Given the description of an element on the screen output the (x, y) to click on. 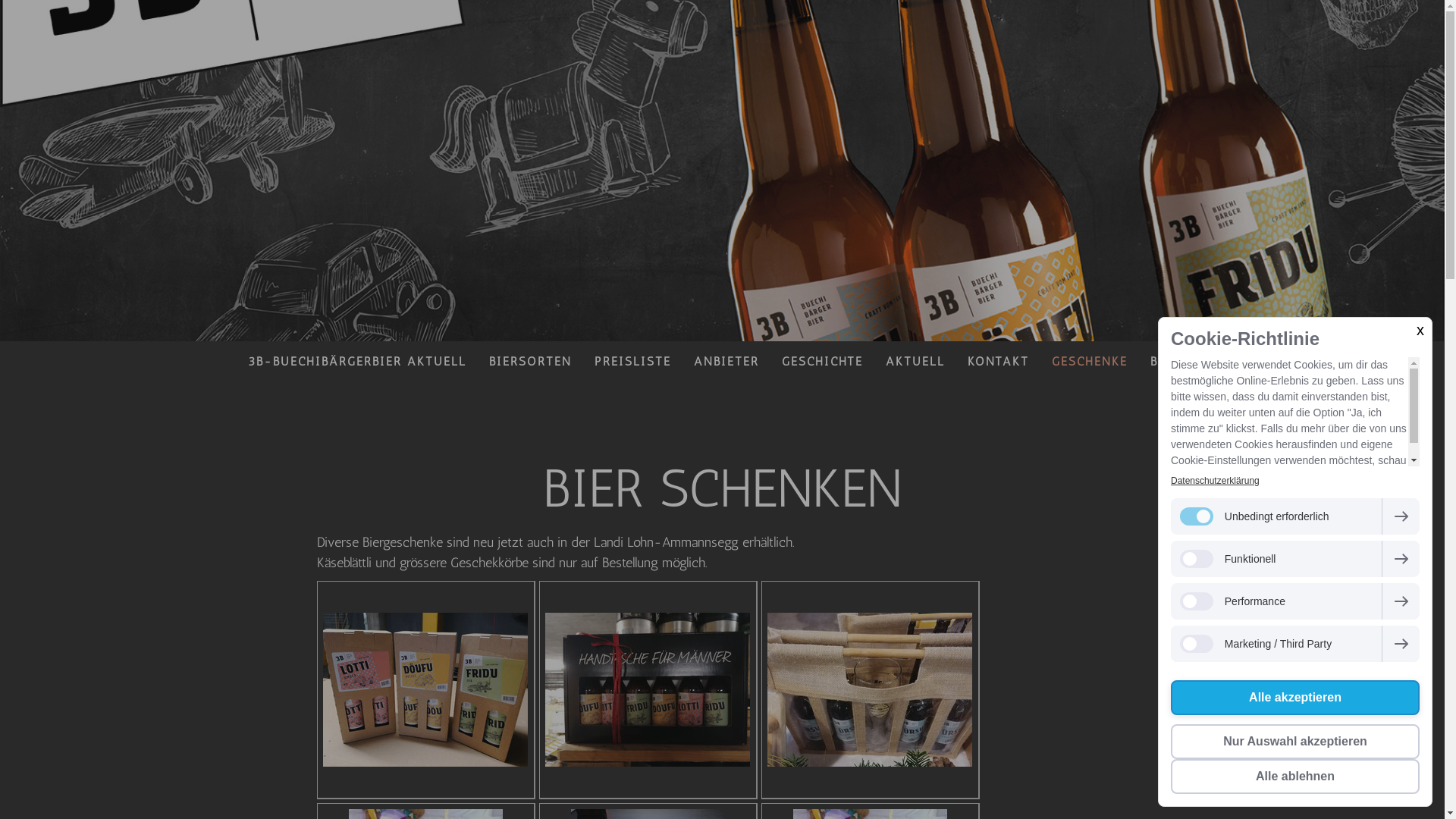
PREISLISTE Element type: text (632, 361)
GESCHICHTE Element type: text (822, 361)
Alle ablehnen Element type: text (1294, 776)
AKTUELL Element type: text (915, 361)
ANBIETER Element type: text (726, 361)
Alle akzeptieren Element type: text (1294, 697)
Nur Auswahl akzeptieren Element type: text (1294, 741)
KONTAKT Element type: text (998, 361)
GESCHENKE Element type: text (1089, 361)
BIERSORTEN Element type: text (530, 361)
BILDER Element type: text (1173, 361)
